Given the description of an element on the screen output the (x, y) to click on. 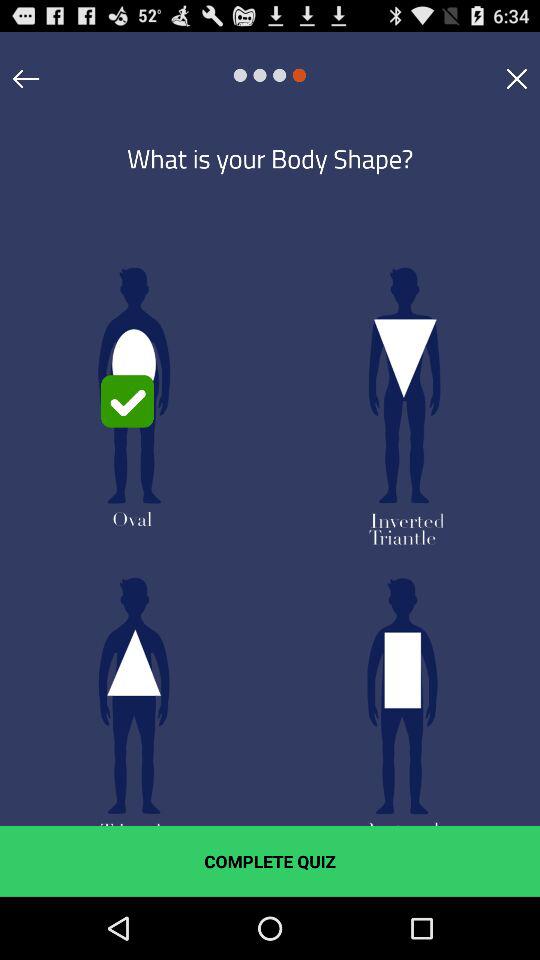
launch complete quiz at the bottom (270, 861)
